Given the description of an element on the screen output the (x, y) to click on. 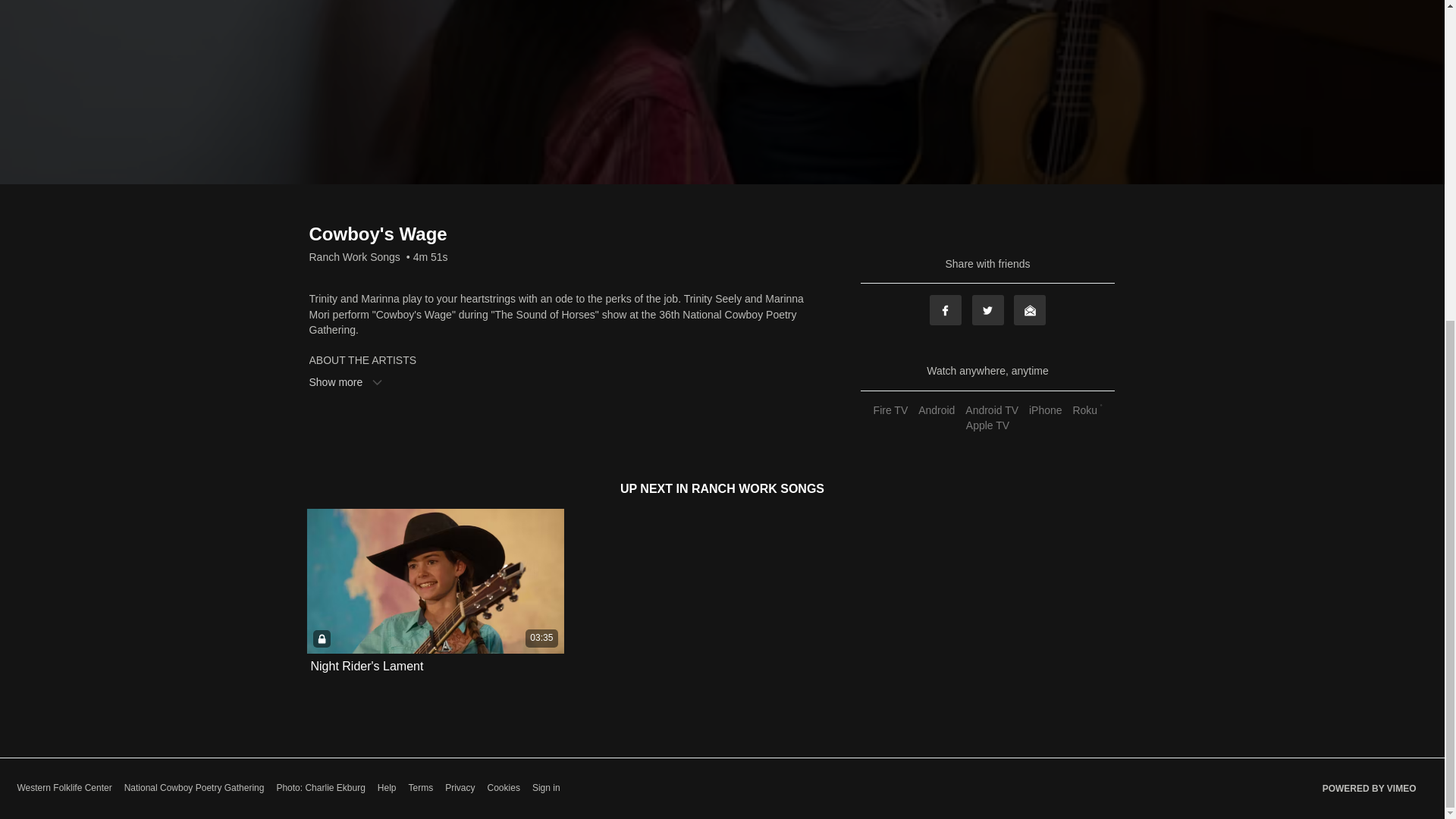
Night Rider's Lament (367, 666)
Ranch Work Songs (354, 256)
